Given the description of an element on the screen output the (x, y) to click on. 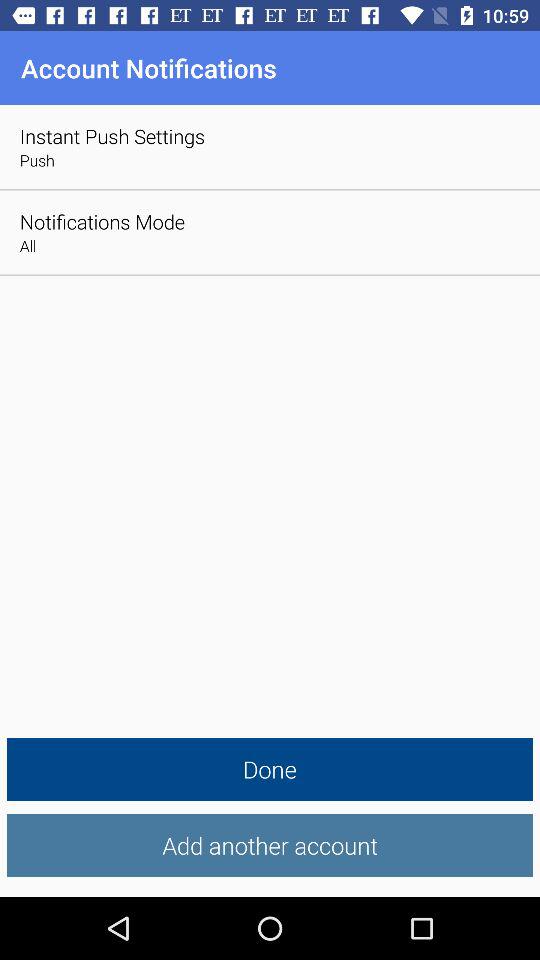
click the add another account icon (269, 845)
